Given the description of an element on the screen output the (x, y) to click on. 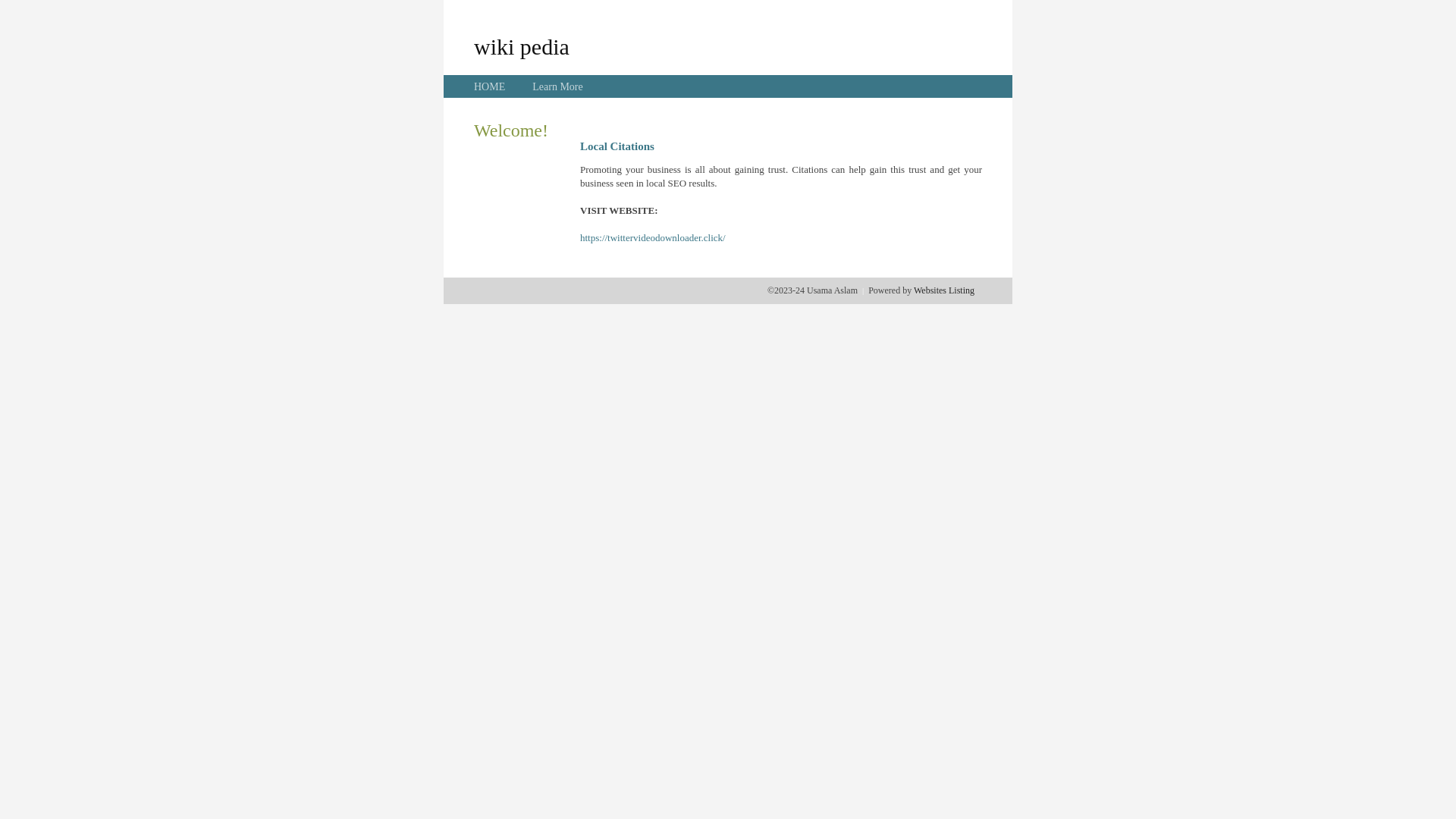
HOME Element type: text (489, 86)
wiki pedia Element type: text (521, 46)
https://twittervideodownloader.click/ Element type: text (652, 237)
Websites Listing Element type: text (943, 290)
Learn More Element type: text (557, 86)
